Given the description of an element on the screen output the (x, y) to click on. 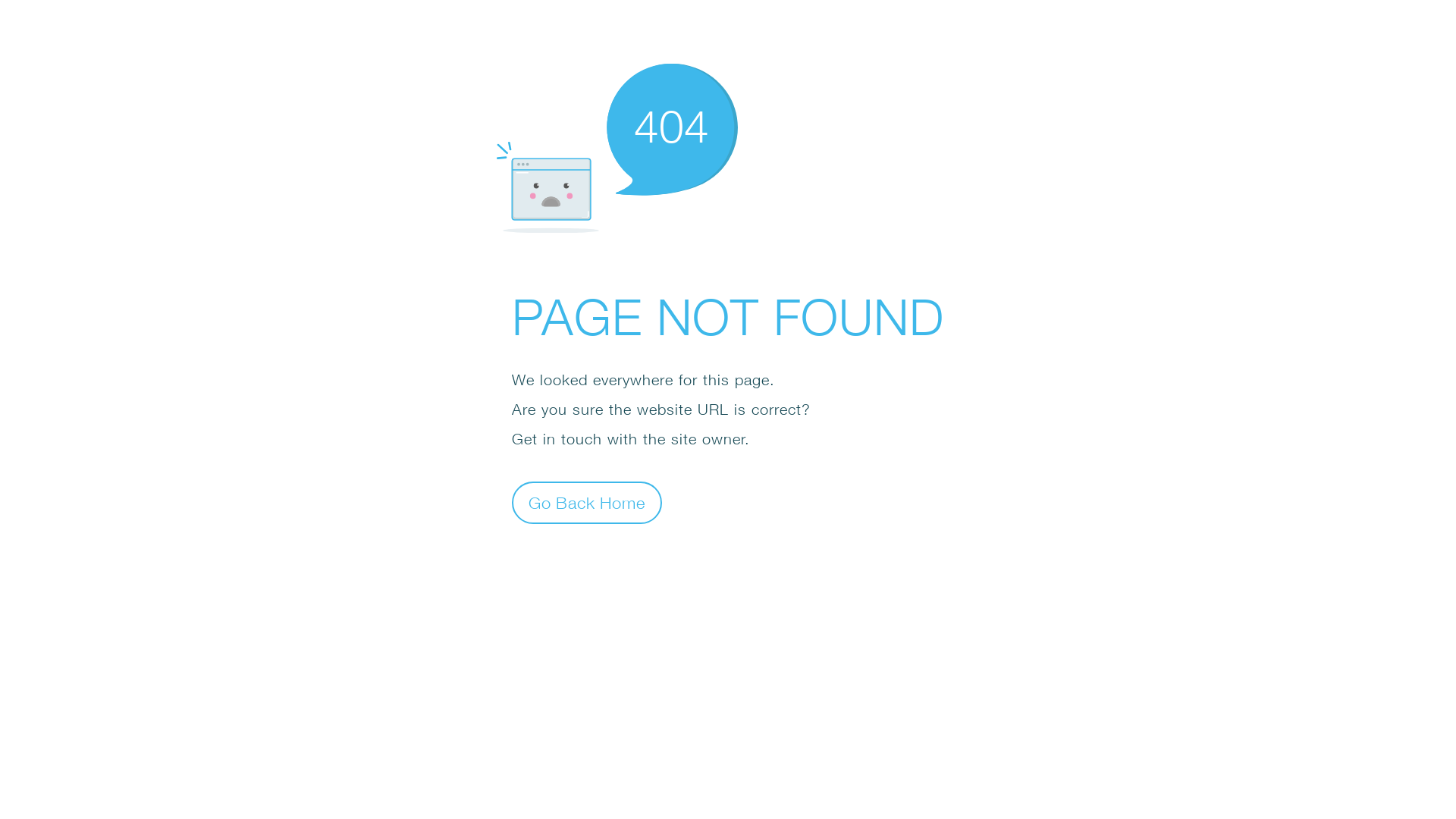
Go Back Home Element type: text (586, 502)
